Given the description of an element on the screen output the (x, y) to click on. 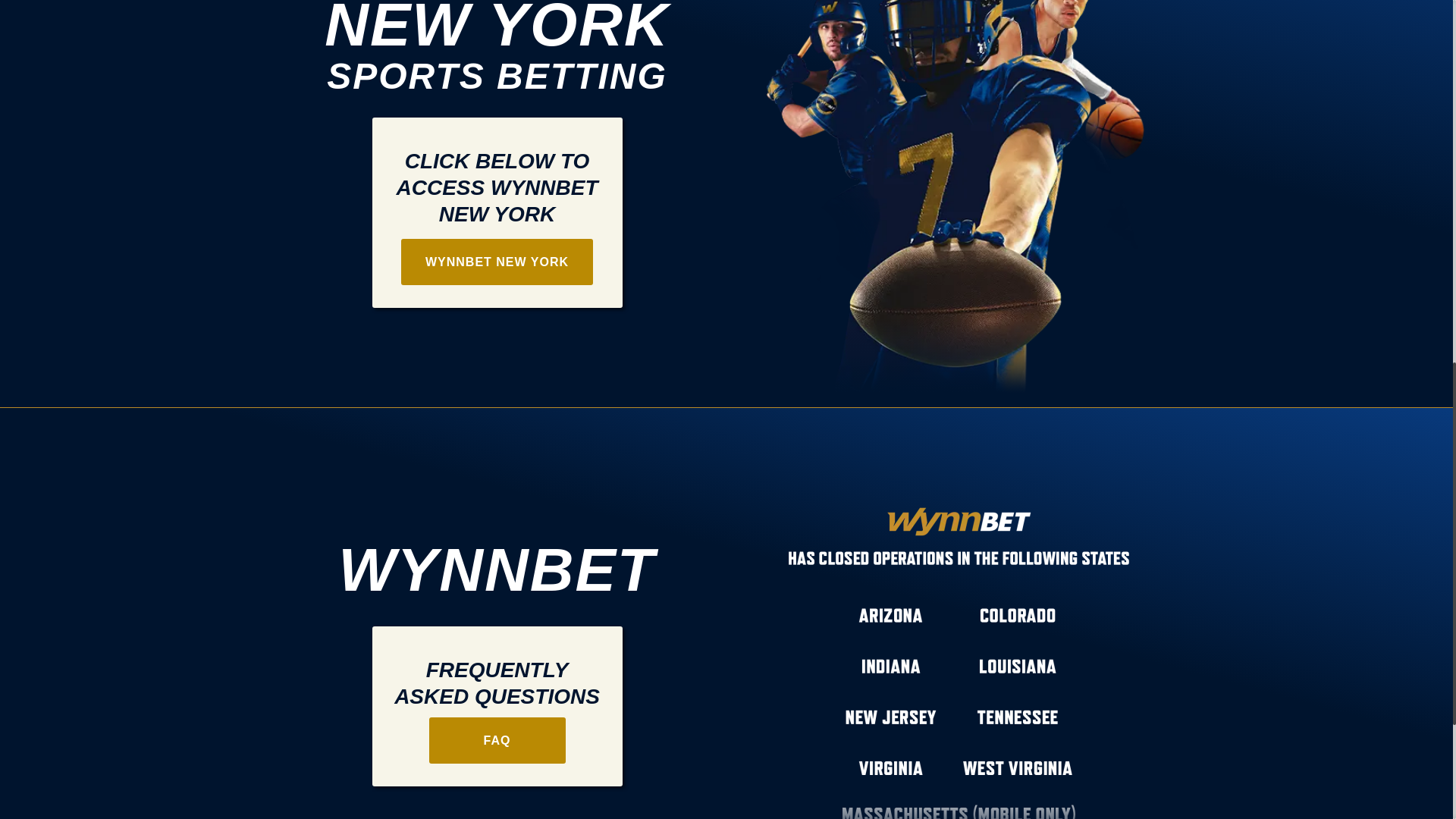
WYNNBET NEW YORK (496, 262)
FAQ (497, 740)
